Given the description of an element on the screen output the (x, y) to click on. 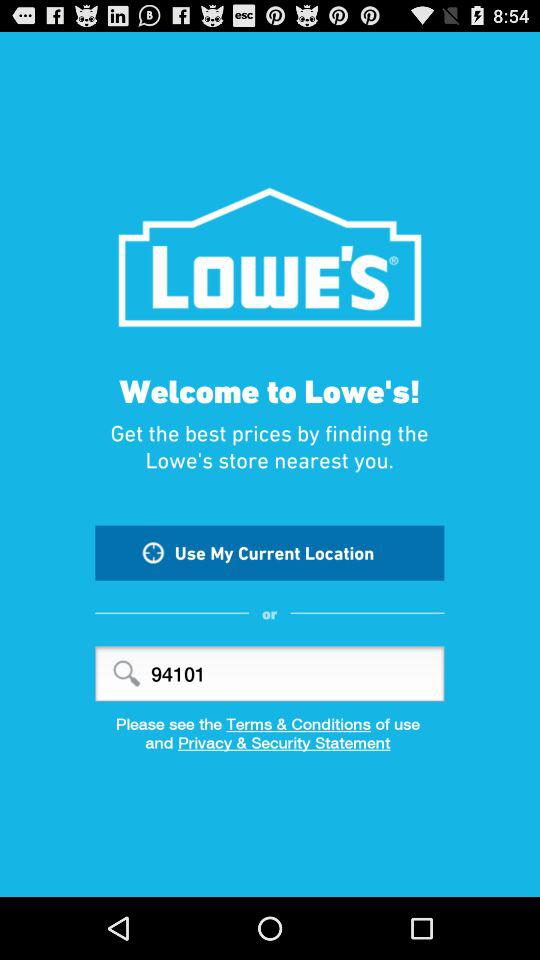
flip until the please see the icon (270, 723)
